Given the description of an element on the screen output the (x, y) to click on. 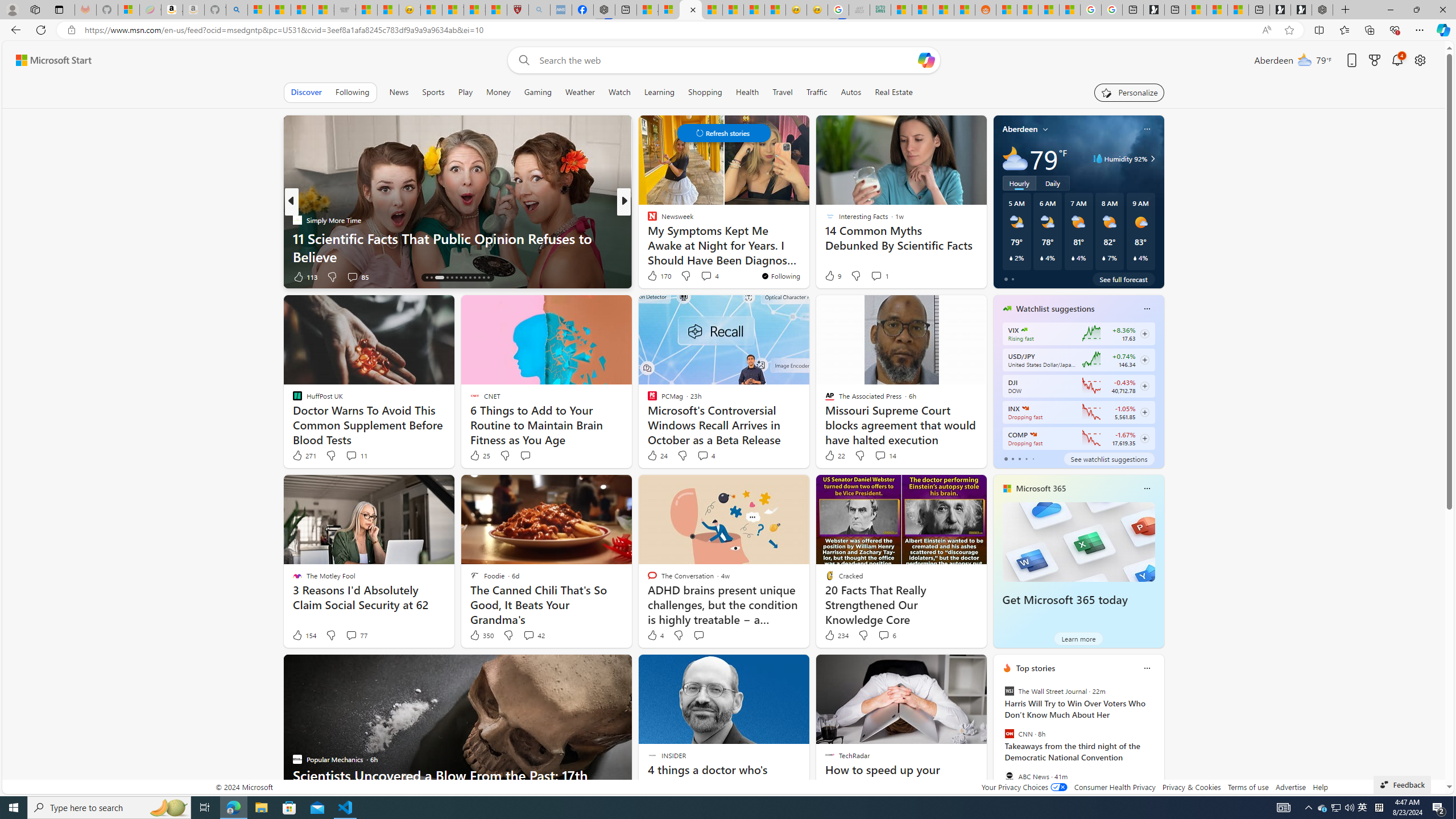
Class: weather-current-precipitation-glyph (1134, 257)
236 Like (654, 276)
Aberdeen (1019, 128)
View comments 231 Comment (698, 276)
Class: follow-button  m (1144, 438)
AutomationID: tab-17 (446, 277)
AutomationID: tab-25 (483, 277)
AutomationID: tab-23 (474, 277)
